Given the description of an element on the screen output the (x, y) to click on. 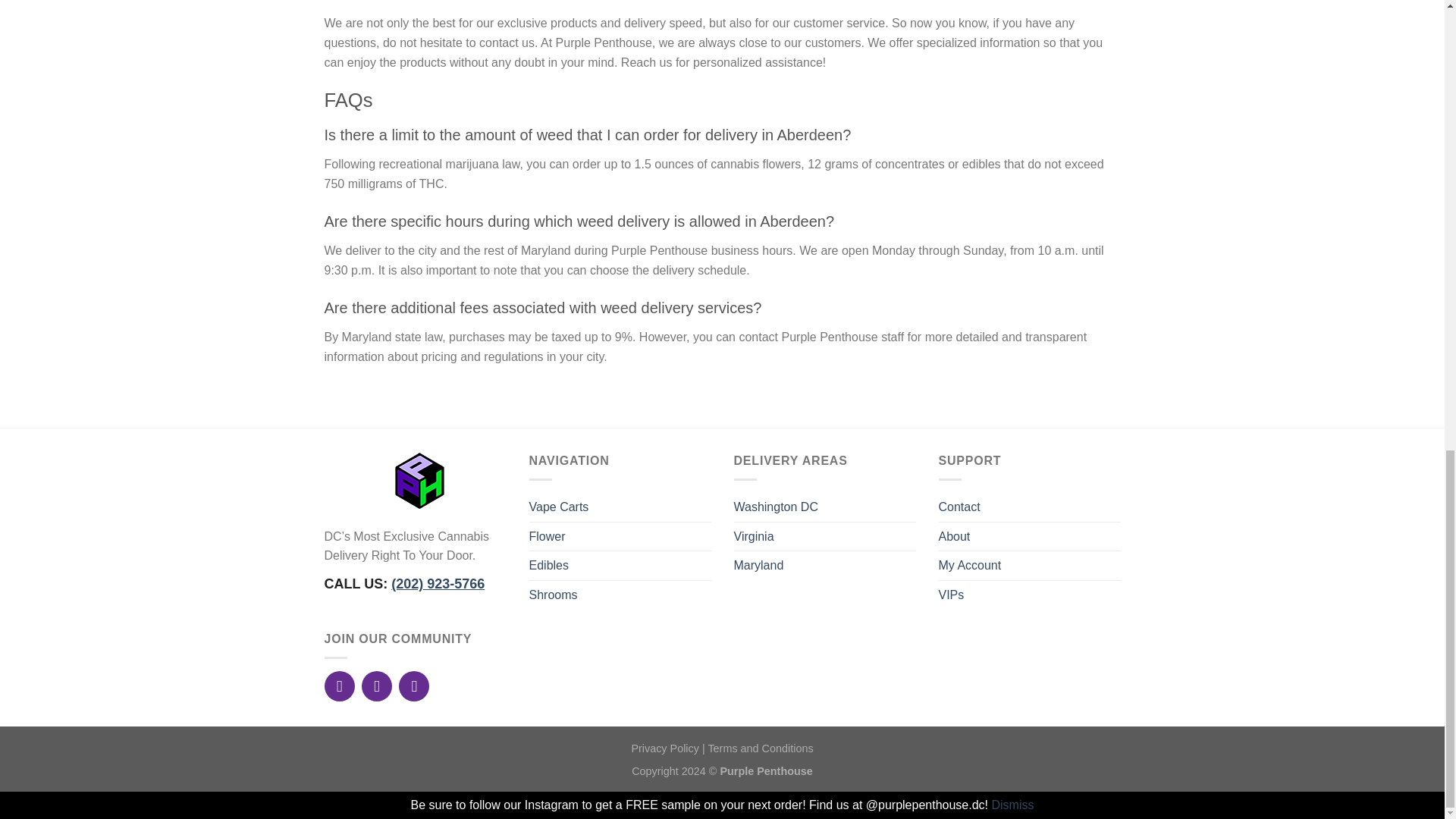
My Account (970, 565)
Flower (547, 536)
Contact (959, 507)
Edibles (549, 565)
Shrooms (553, 594)
Virginia (753, 536)
About (955, 536)
Washington DC (775, 507)
VIPs (951, 594)
Vape Carts (559, 507)
